Given the description of an element on the screen output the (x, y) to click on. 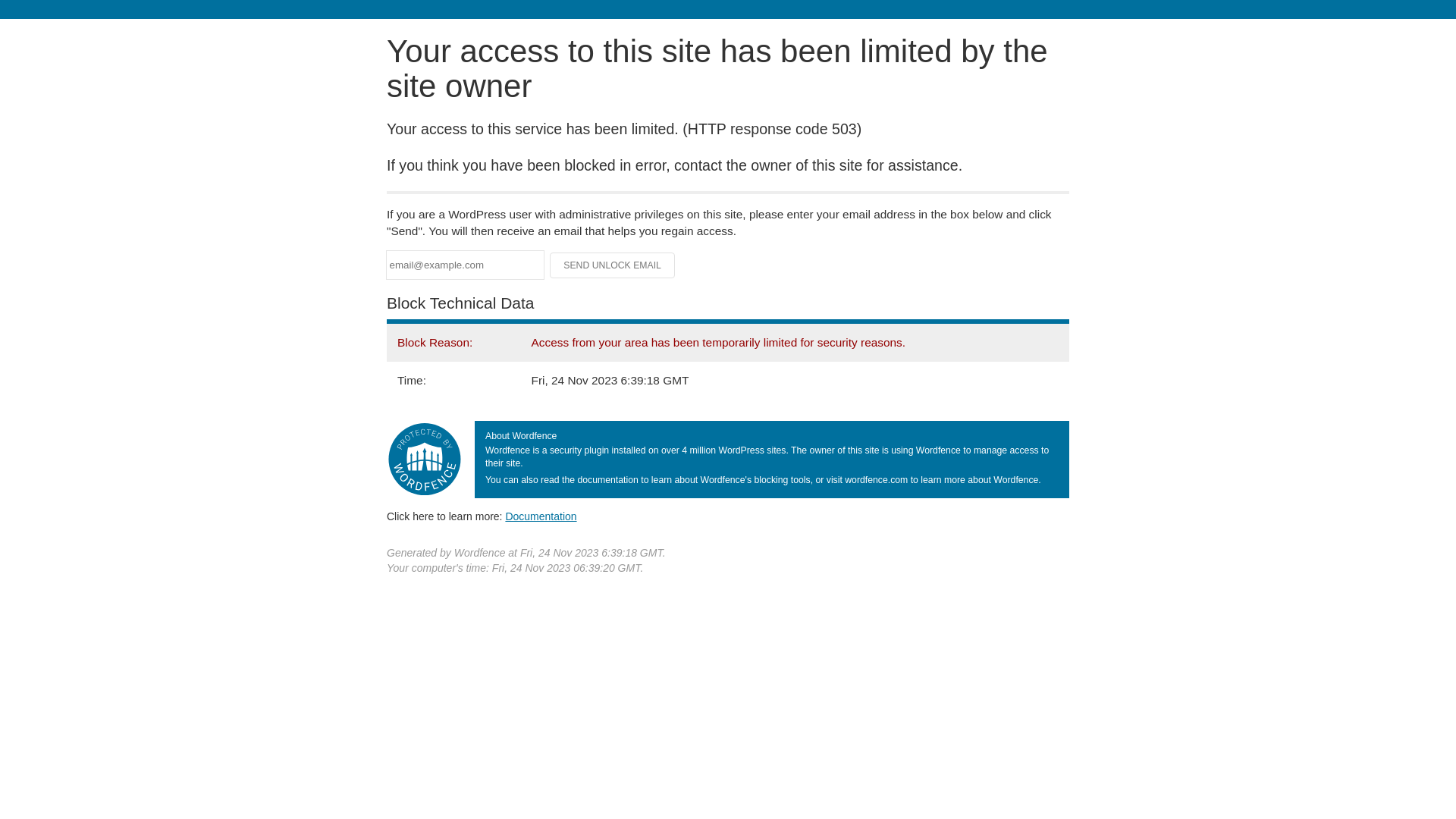
Documentation Element type: text (540, 516)
Send Unlock Email Element type: text (612, 265)
